Given the description of an element on the screen output the (x, y) to click on. 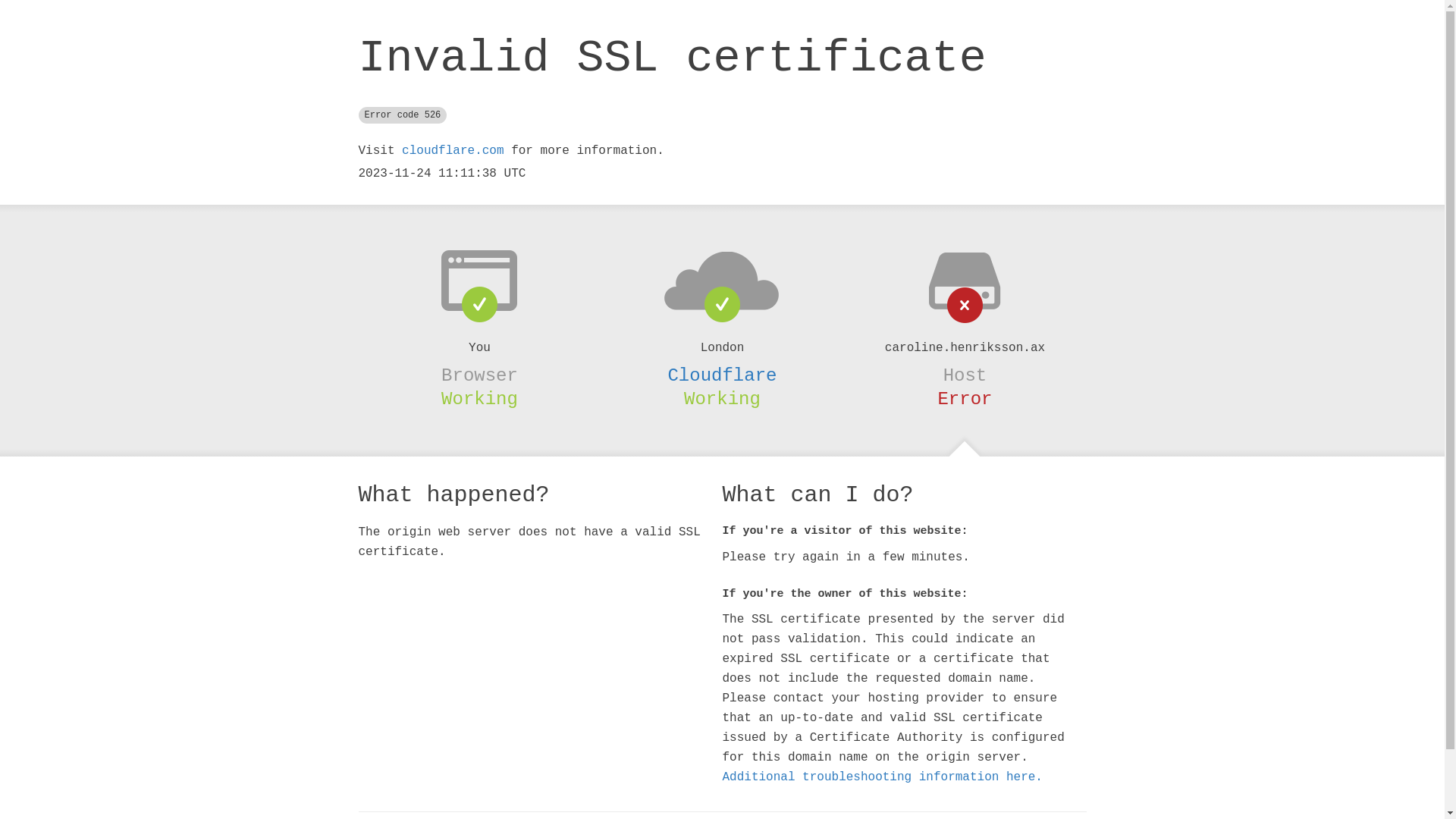
Additional troubleshooting information here. Element type: text (881, 777)
Cloudflare Element type: text (721, 375)
cloudflare.com Element type: text (452, 150)
